Given the description of an element on the screen output the (x, y) to click on. 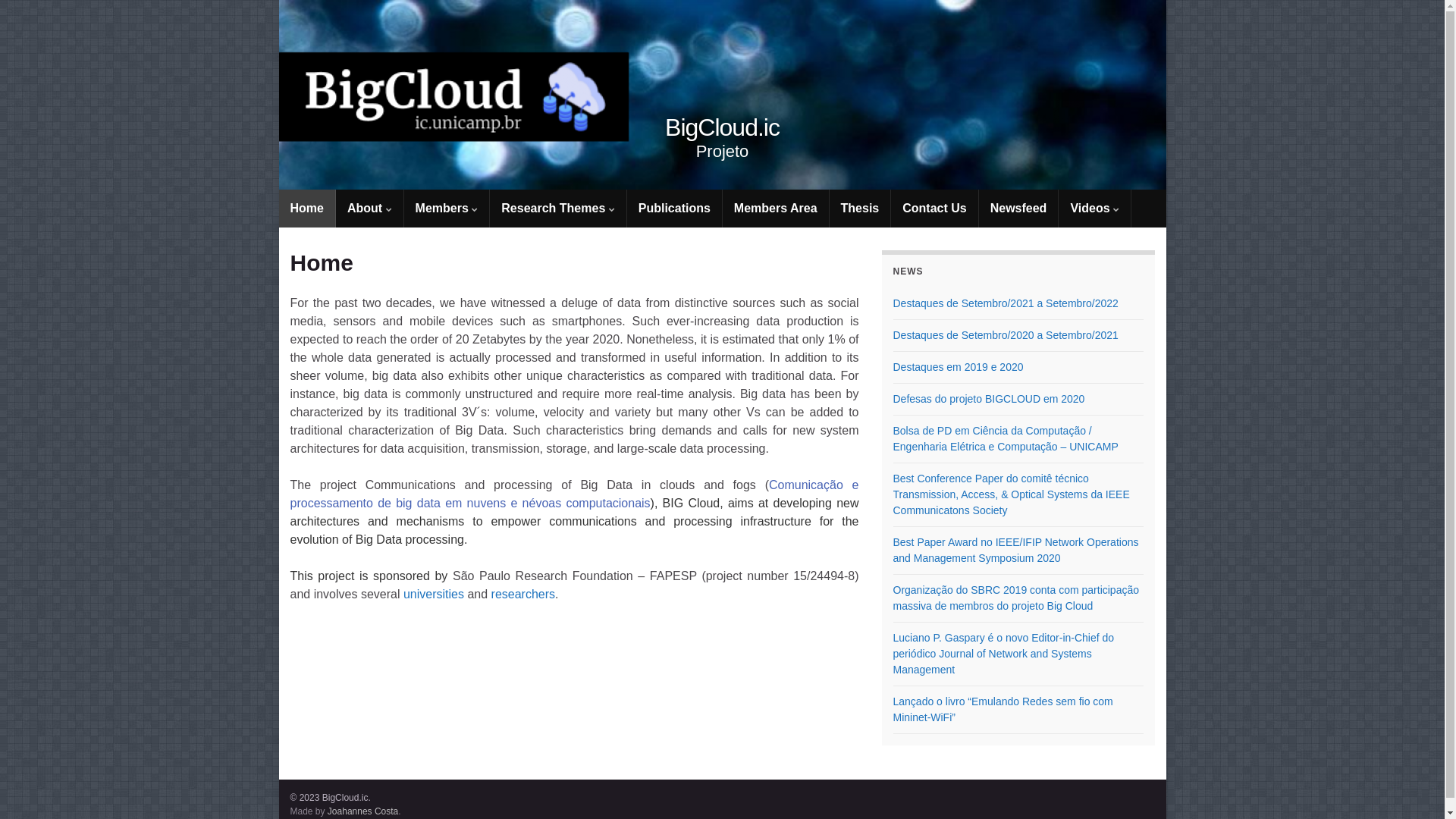
researchers Element type: text (523, 593)
Members Element type: text (446, 208)
Thesis Element type: text (860, 208)
Members Area Element type: text (775, 208)
Destaques de Setembro/2020 a Setembro/2021 Element type: text (1005, 335)
Contact Us Element type: text (934, 208)
Defesas do projeto BIGCLOUD em 2020 Element type: text (989, 398)
Home Element type: text (307, 208)
About Element type: text (369, 208)
BigCloud.ic Element type: hover (722, 94)
Newsfeed Element type: text (1018, 208)
Publications Element type: text (674, 208)
universities Element type: text (433, 593)
Destaques em 2019 e 2020 Element type: text (958, 366)
Destaques de Setembro/2021 a Setembro/2022 Element type: text (1005, 303)
Research Themes Element type: text (557, 208)
Joahannes Costa Element type: text (362, 811)
Videos Element type: text (1094, 208)
